Given the description of an element on the screen output the (x, y) to click on. 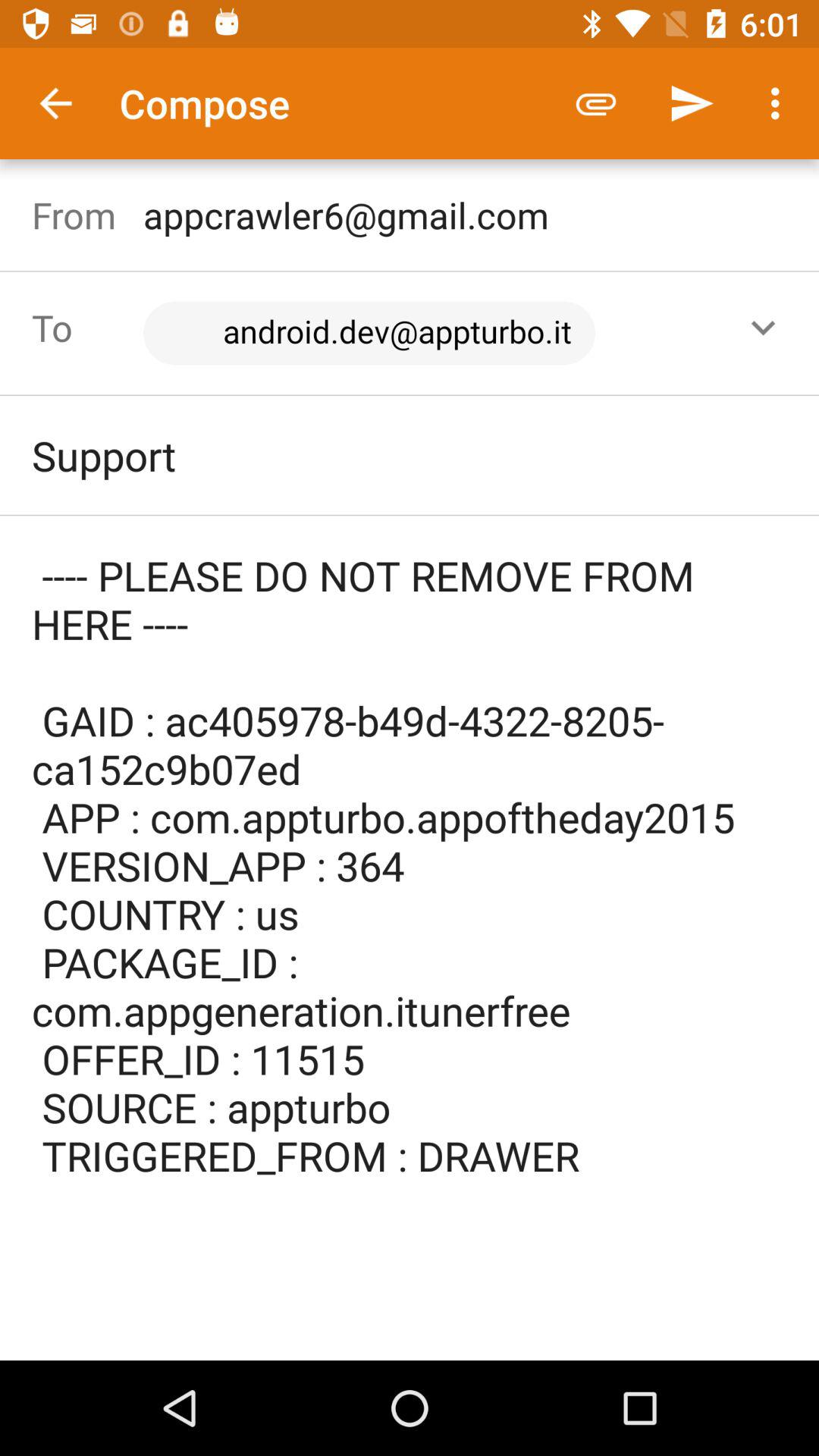
click the please do not item (409, 889)
